Given the description of an element on the screen output the (x, y) to click on. 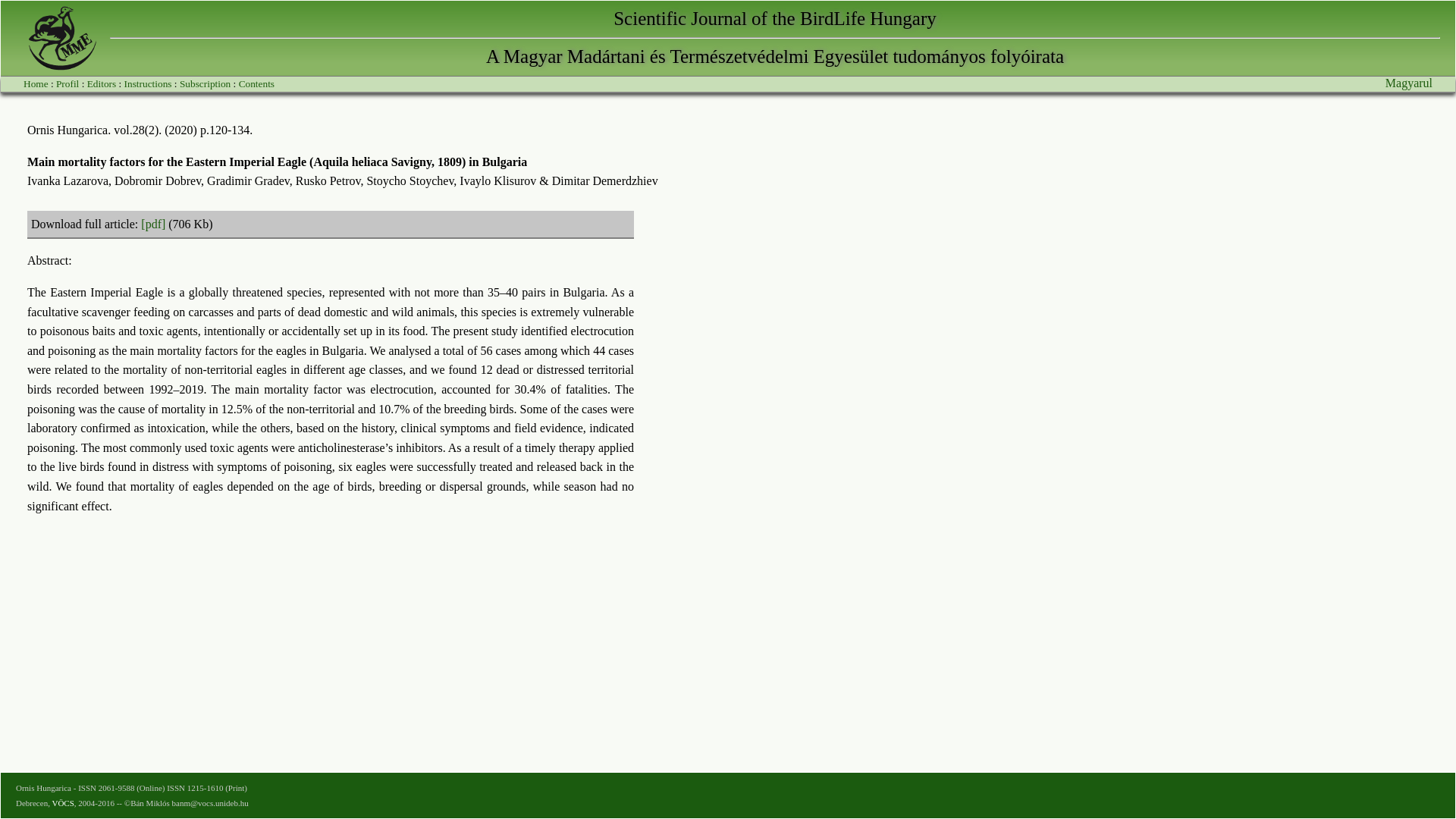
Editors (101, 83)
Contents (256, 83)
Profil (67, 83)
Subscription (204, 83)
Instructions (147, 83)
Home (35, 83)
Magyarul (1409, 82)
